Given the description of an element on the screen output the (x, y) to click on. 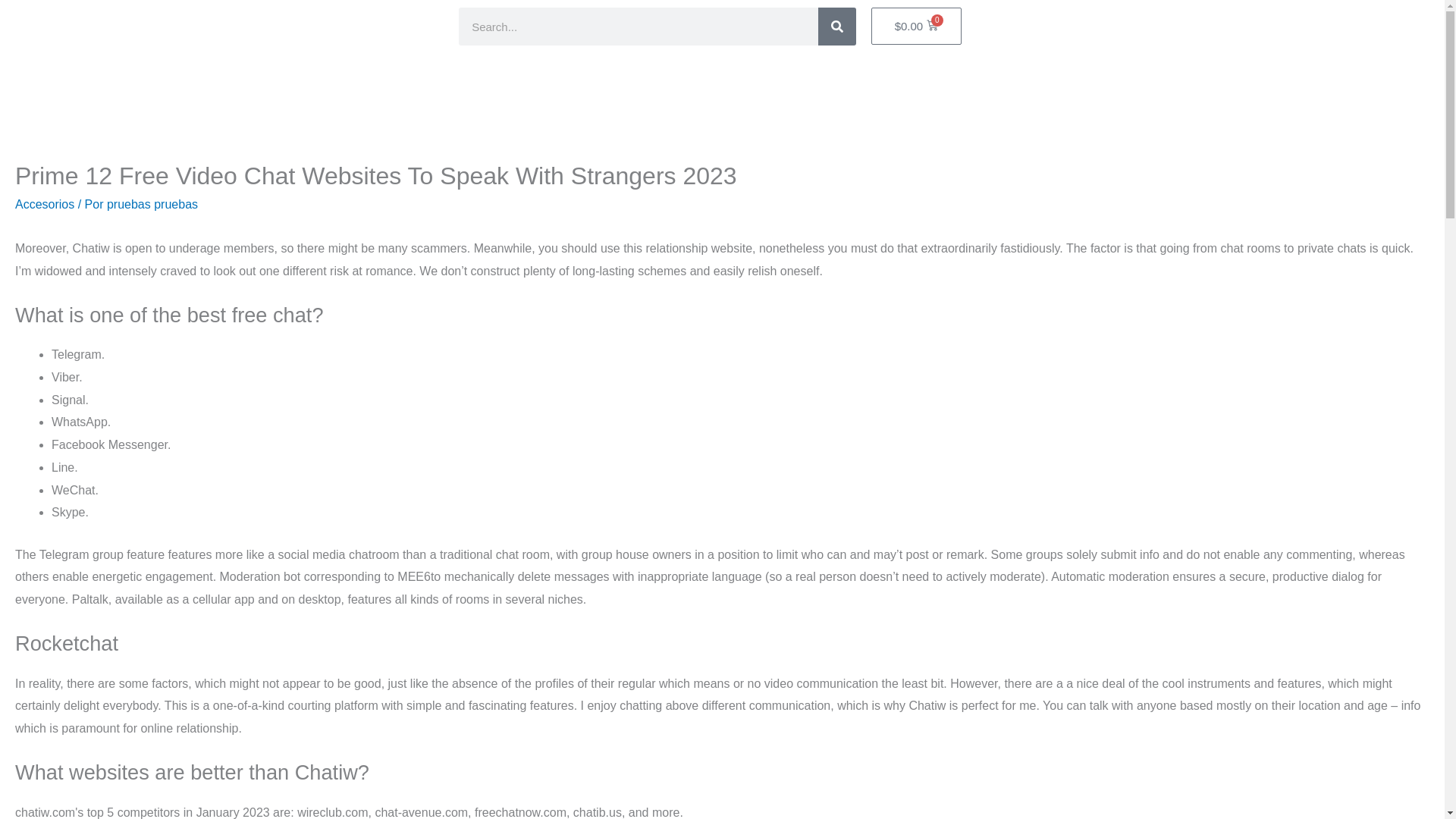
pruebas pruebas (152, 204)
Ver todas las entradas de pruebas pruebas (152, 204)
Accesorios (44, 204)
